Given the description of an element on the screen output the (x, y) to click on. 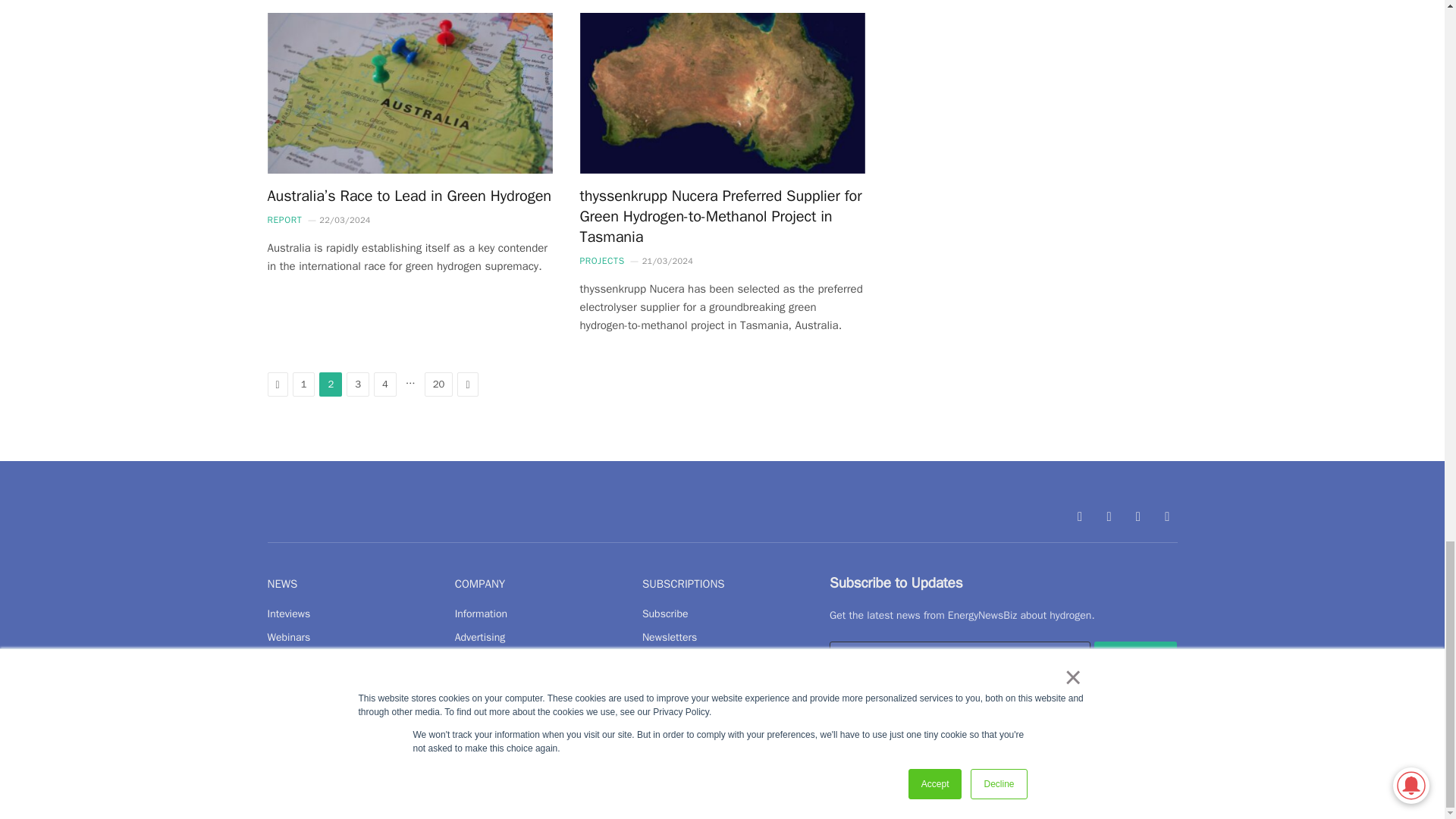
on (834, 696)
Subscribe (1135, 657)
